Given the description of an element on the screen output the (x, y) to click on. 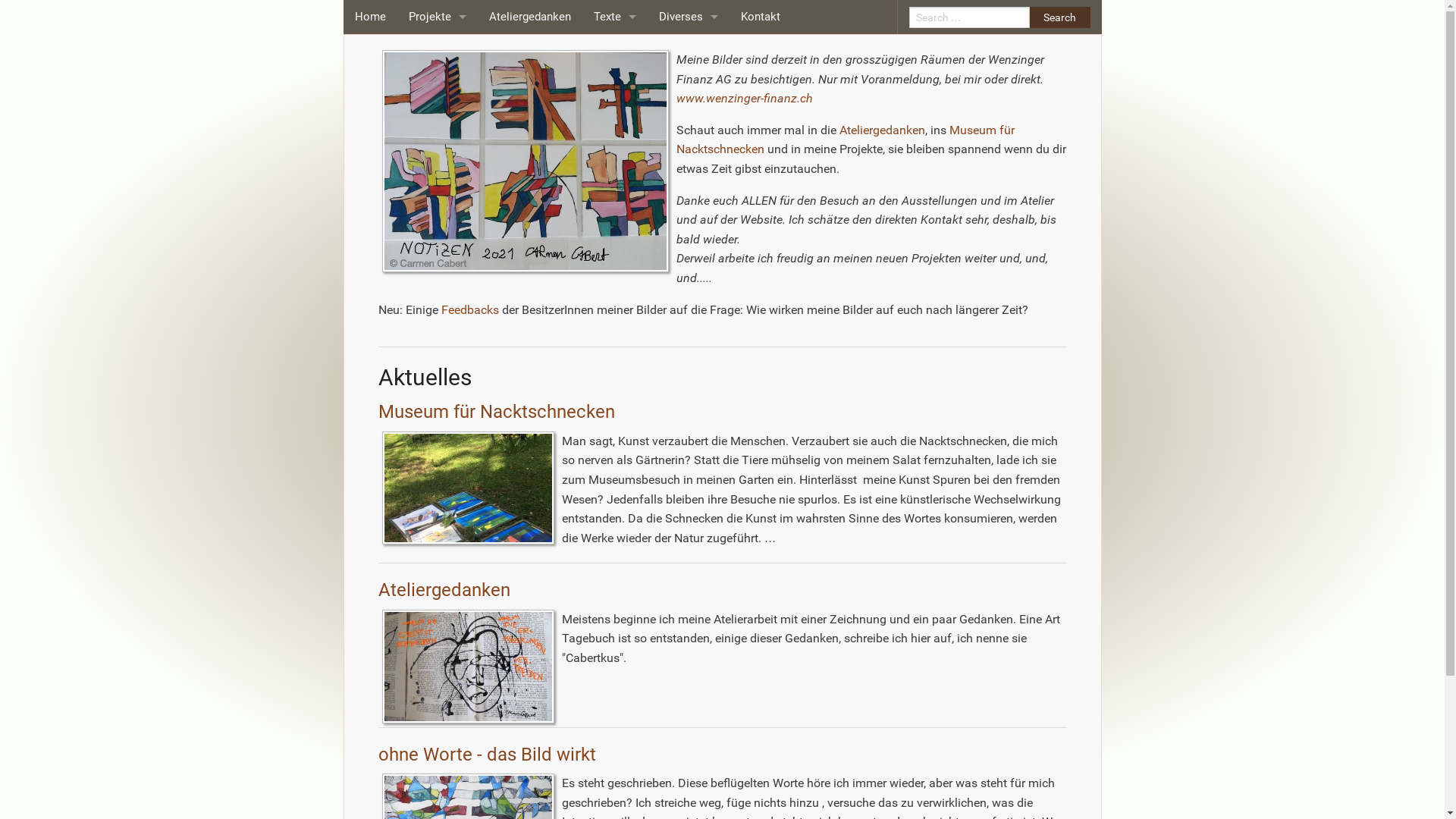
Weisse Flecken Element type: text (437, 290)
Texte Element type: text (614, 17)
Medien Element type: text (614, 85)
InforNatik Element type: text (437, 358)
Search Element type: text (1059, 16)
Ausstellungen Element type: text (688, 85)
Projekte Element type: text (437, 17)
Bildsprache Element type: text (437, 221)
Kontakt Element type: text (760, 17)
Mensa Element type: text (437, 187)
Michelangelo Element type: text (437, 324)
ohne Worte - das Bild wirkt Element type: text (486, 754)
Am achten Tag Element type: text (437, 392)
Dialog mit Bruder Bruno Element type: text (437, 85)
Home Element type: text (369, 17)
Ateliergedanken Element type: text (529, 17)
www.wenzinger-finanz.ch Element type: text (744, 98)
Biografie Element type: text (688, 51)
Ateliergedanken Element type: text (882, 129)
Ateliergedanken Element type: text (443, 589)
Reaktionen Element type: text (688, 119)
Diverses Element type: text (688, 17)
Feedbacks Element type: text (469, 309)
ohne Worte - das Bild wirkt Element type: text (437, 51)
Kritiken Element type: text (614, 51)
Sehblick Element type: text (437, 153)
Links Element type: text (688, 153)
Aschebilder Element type: text (437, 255)
Impressum Element type: text (688, 187)
